Given the description of an element on the screen output the (x, y) to click on. 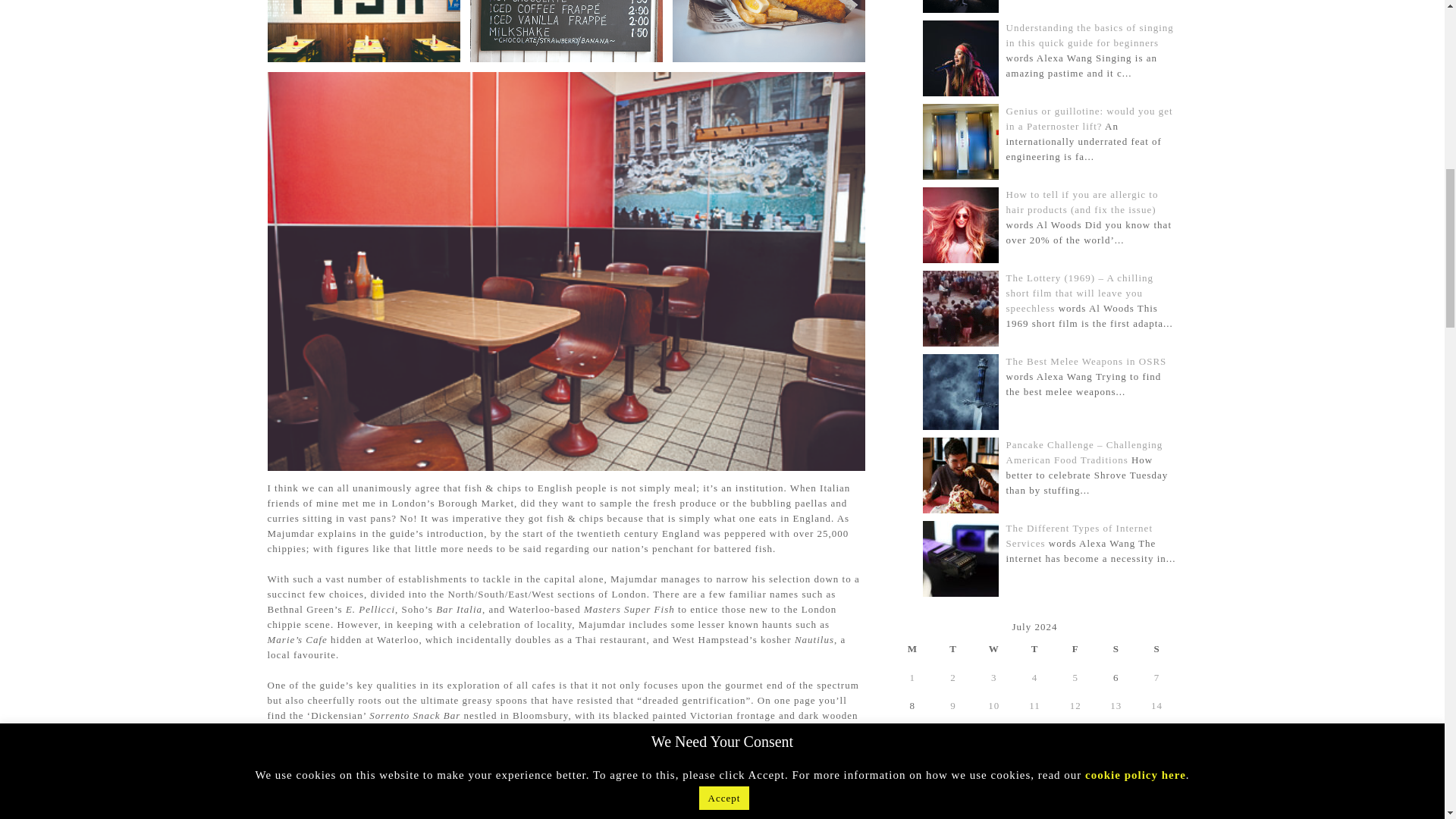
Thursday (1034, 648)
Wednesday (994, 648)
Tuesday (953, 648)
Monday (912, 648)
Sunday (1157, 648)
Saturday (1116, 648)
Friday (1075, 648)
